Given the description of an element on the screen output the (x, y) to click on. 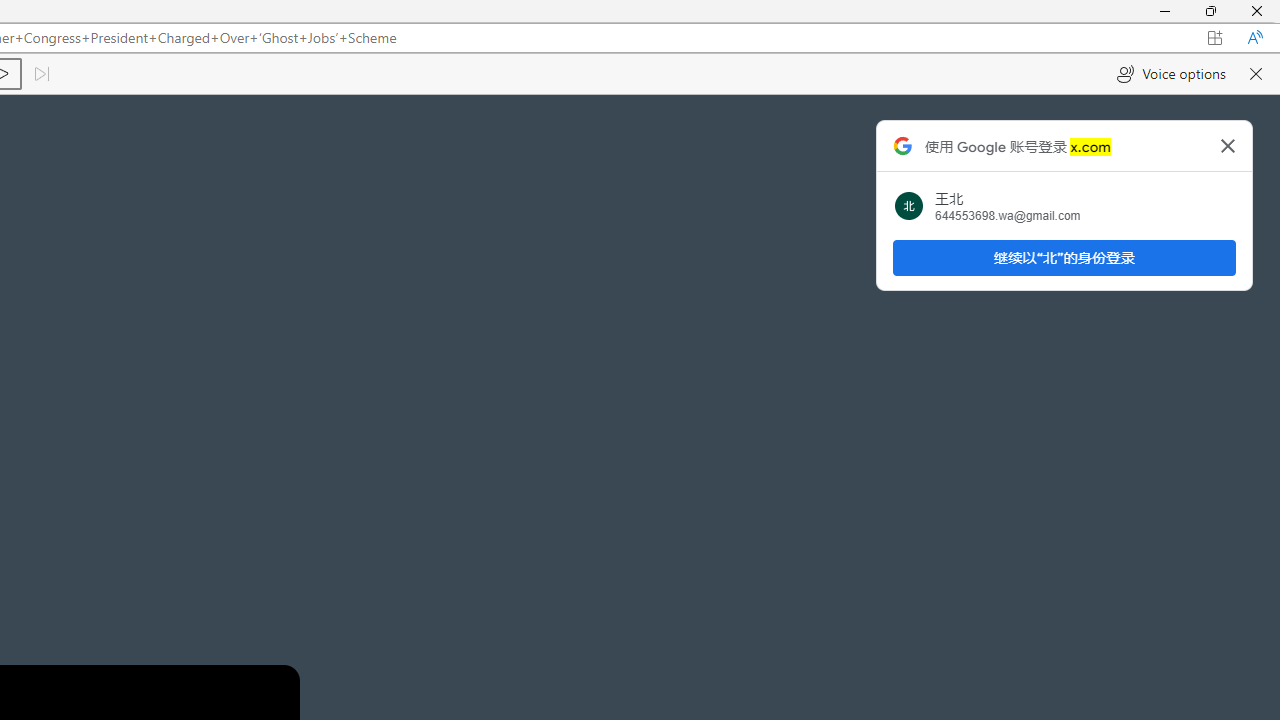
Voice options (1170, 74)
Read next paragraph (40, 74)
Close read aloud (1255, 74)
App available. Install X (1215, 38)
Class: Bz112c Bz112c-r9oPif (1228, 145)
